Given the description of an element on the screen output the (x, y) to click on. 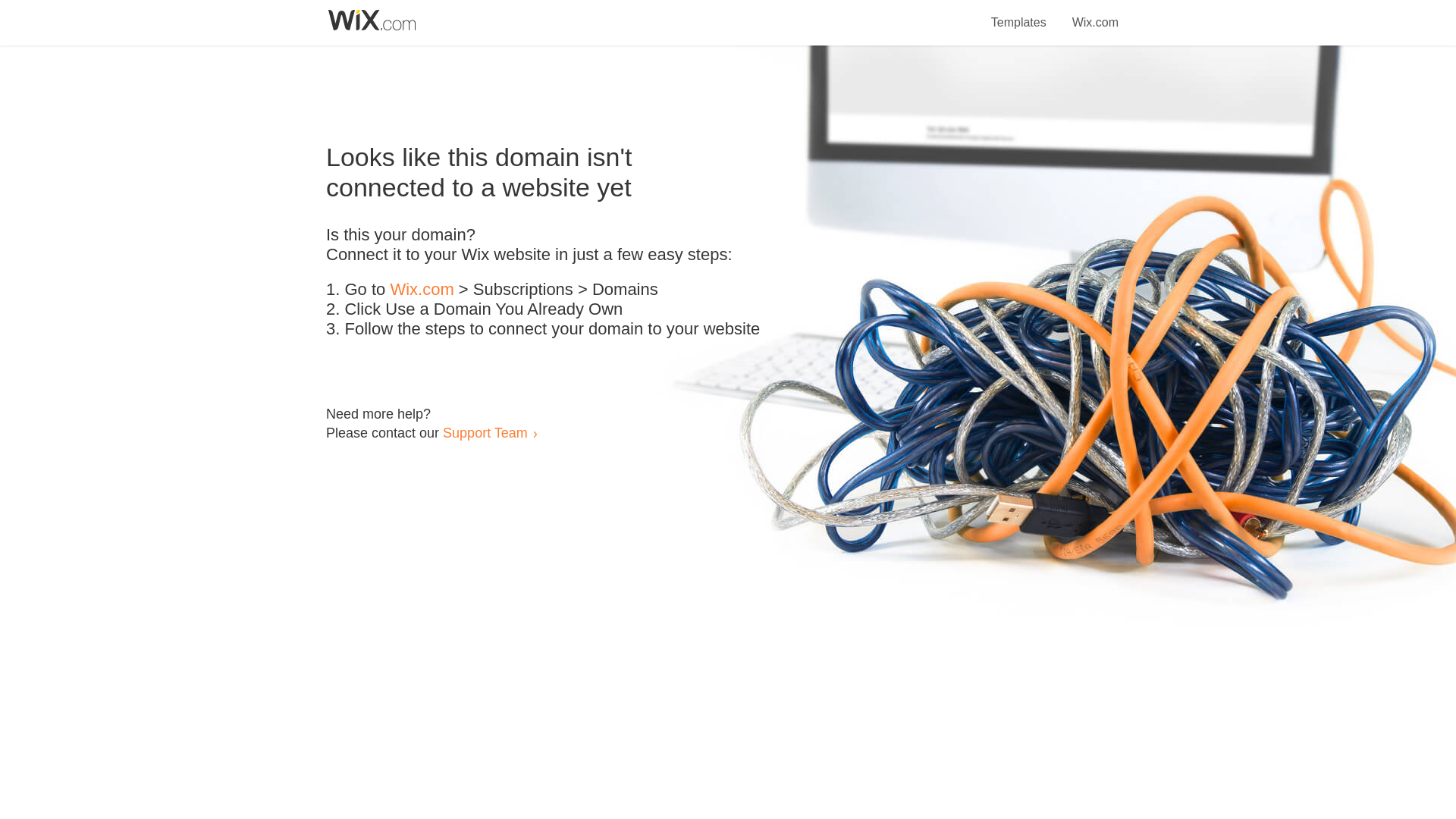
Wix.com (421, 289)
Support Team (484, 432)
Wix.com (1095, 14)
Templates (1018, 14)
